Given the description of an element on the screen output the (x, y) to click on. 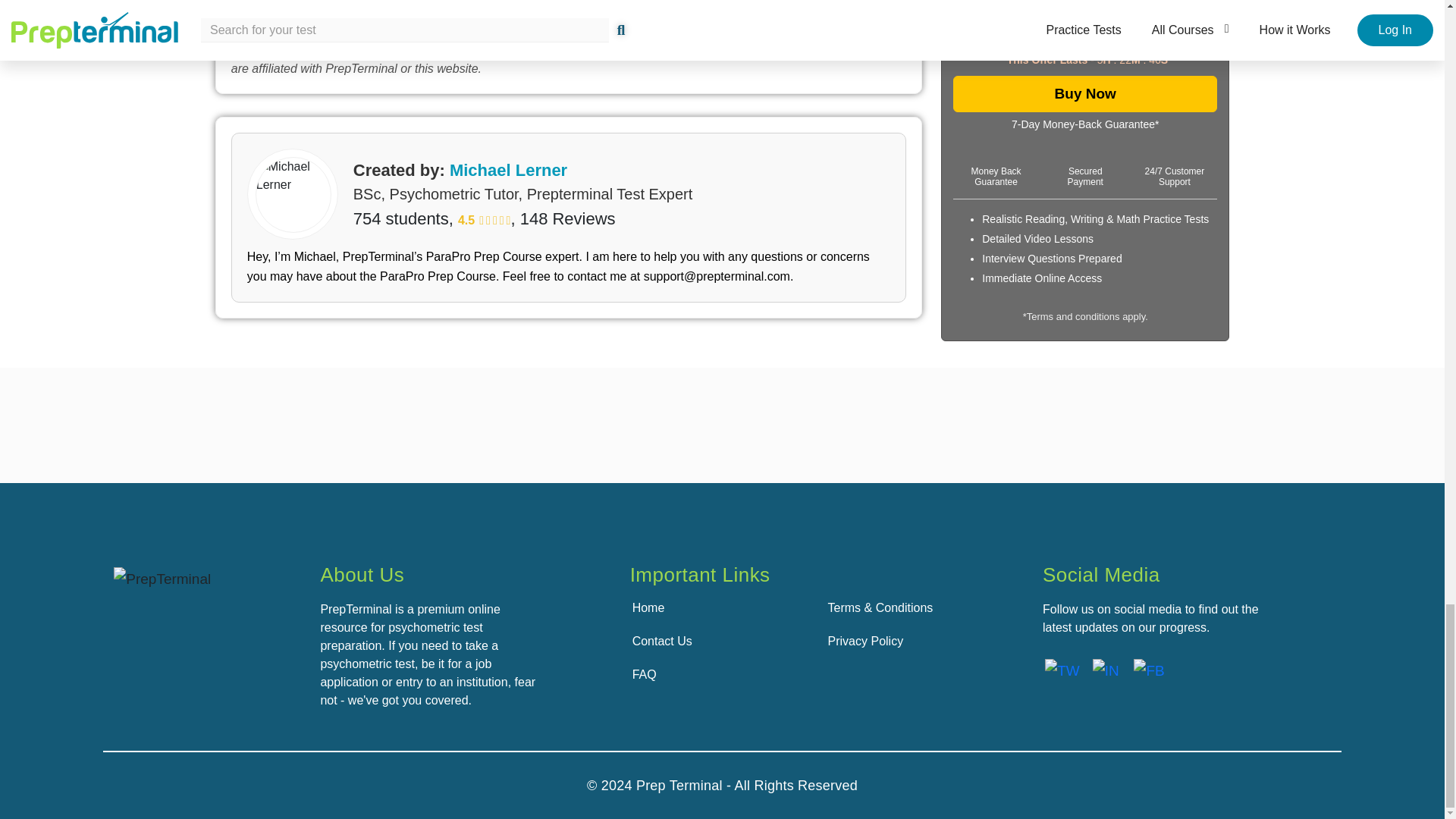
Facebook (1148, 671)
Facebook (1149, 671)
Twitter (1062, 671)
LinkedIn (1105, 671)
PrepTerminal (162, 579)
Twitter (1061, 671)
LinkedIn (1106, 671)
